Given the description of an element on the screen output the (x, y) to click on. 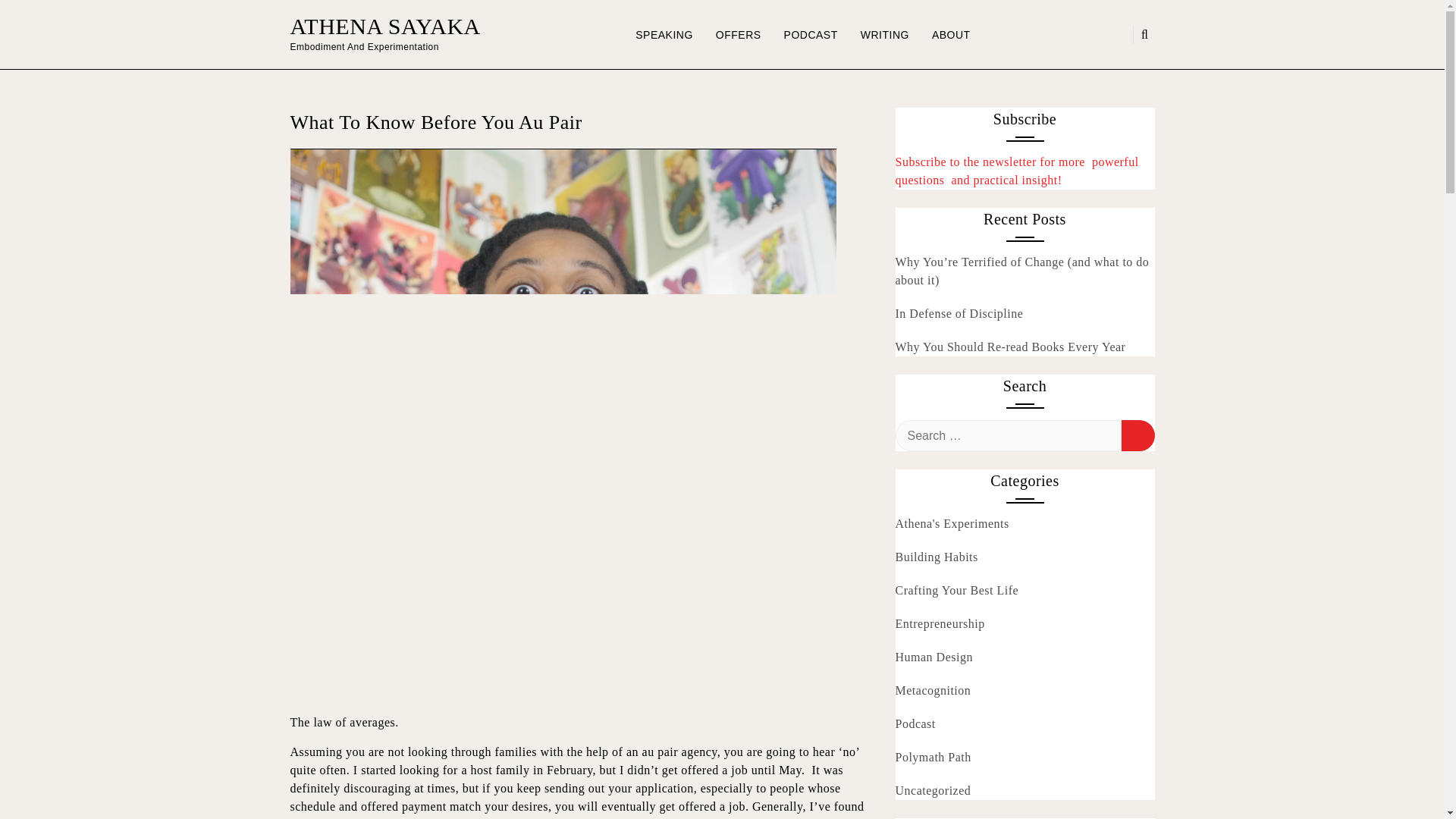
Uncategorized (933, 791)
Polymath Path (933, 757)
Building Habits (935, 556)
Crafting Your Best Life (956, 590)
Search (1137, 435)
OFFERS (738, 34)
Why You Should Re-read Books Every Year (1010, 346)
WRITING (884, 34)
Search (1137, 435)
Entrepreneurship (939, 624)
Human Design (933, 657)
Podcast (914, 723)
ABOUT (950, 34)
ATHENA SAYAKA (384, 25)
